Given the description of an element on the screen output the (x, y) to click on. 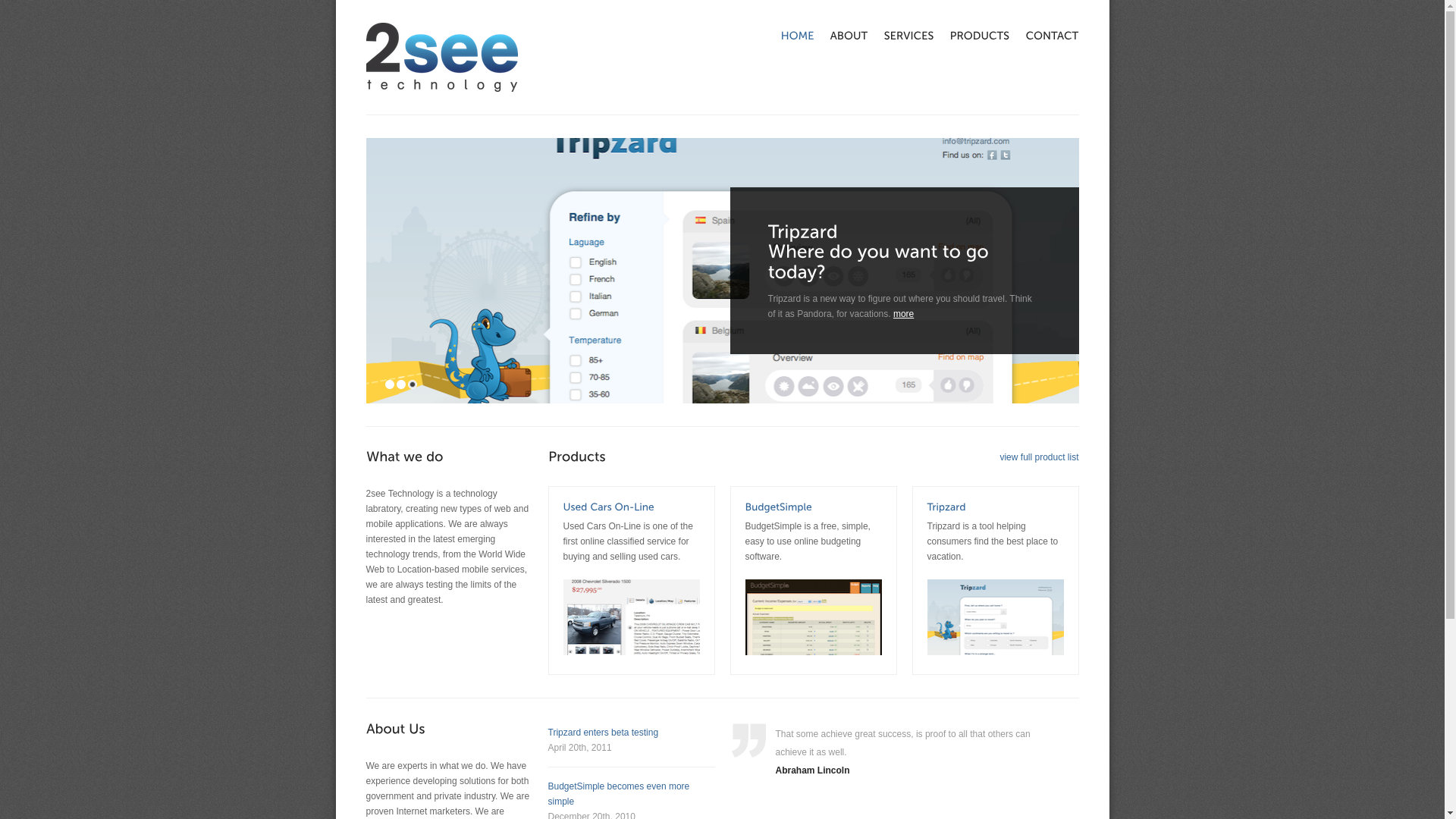
3 Element type: text (412, 384)
Tripzard enters beta testing Element type: text (602, 732)
view full product list Element type: text (1038, 456)
2 Element type: text (400, 384)
Back Home Element type: hover (441, 56)
BudgetSimple becomes even more simple Element type: text (618, 793)
more Element type: text (903, 313)
1 Element type: text (389, 384)
